Given the description of an element on the screen output the (x, y) to click on. 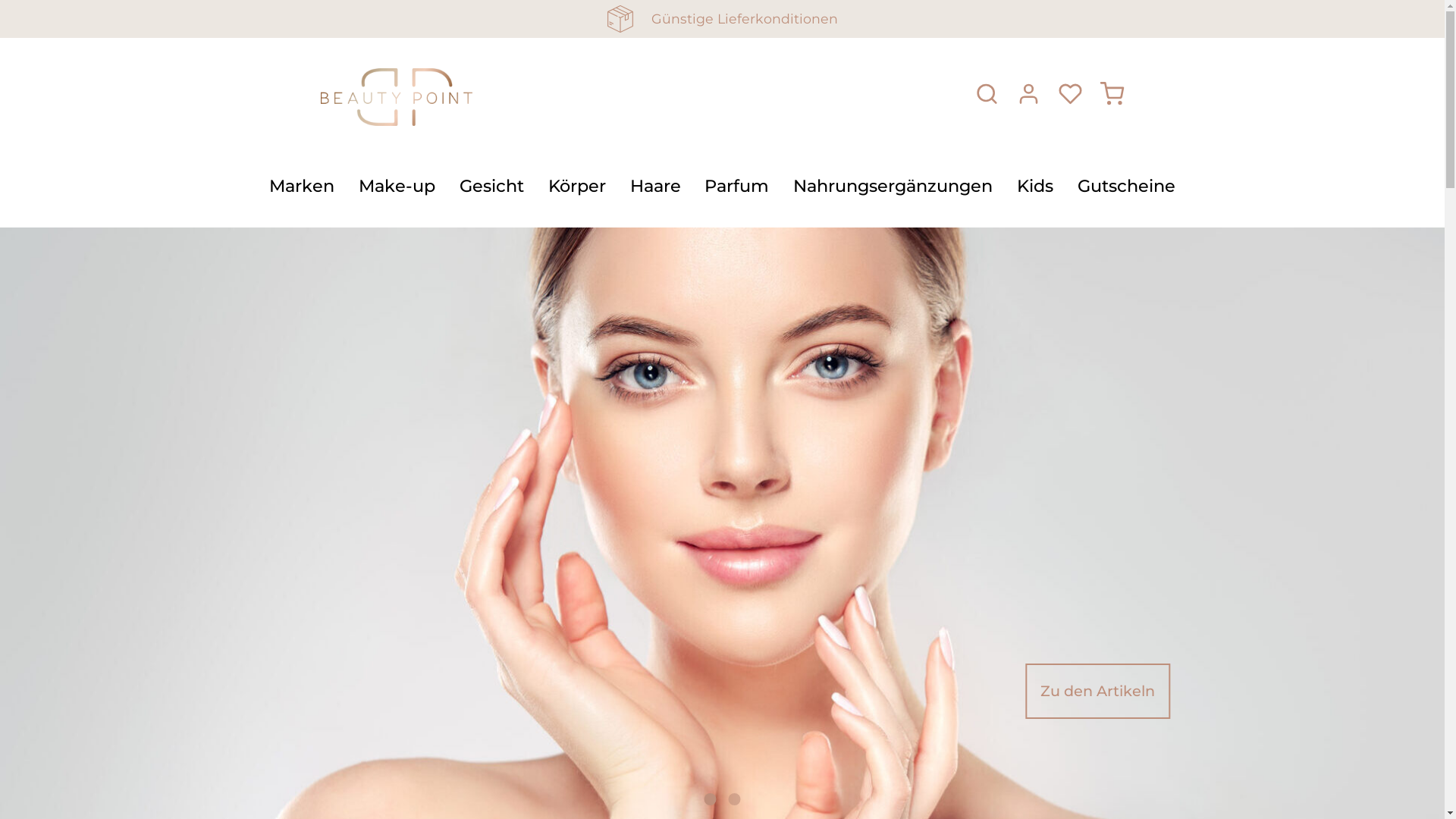
Gesicht Element type: text (491, 191)
Marken Element type: text (301, 191)
Suche Element type: hover (986, 96)
Haare Element type: text (655, 191)
Warenkorb Element type: hover (1111, 96)
Anmelden Element type: hover (1028, 96)
Merkliste Element type: hover (1070, 96)
Make-up Element type: text (396, 191)
Parfum Element type: text (736, 191)
Gutscheine Element type: text (1126, 191)
Kids Element type: text (1034, 191)
Zu den Artikeln Element type: text (1097, 690)
